Given the description of an element on the screen output the (x, y) to click on. 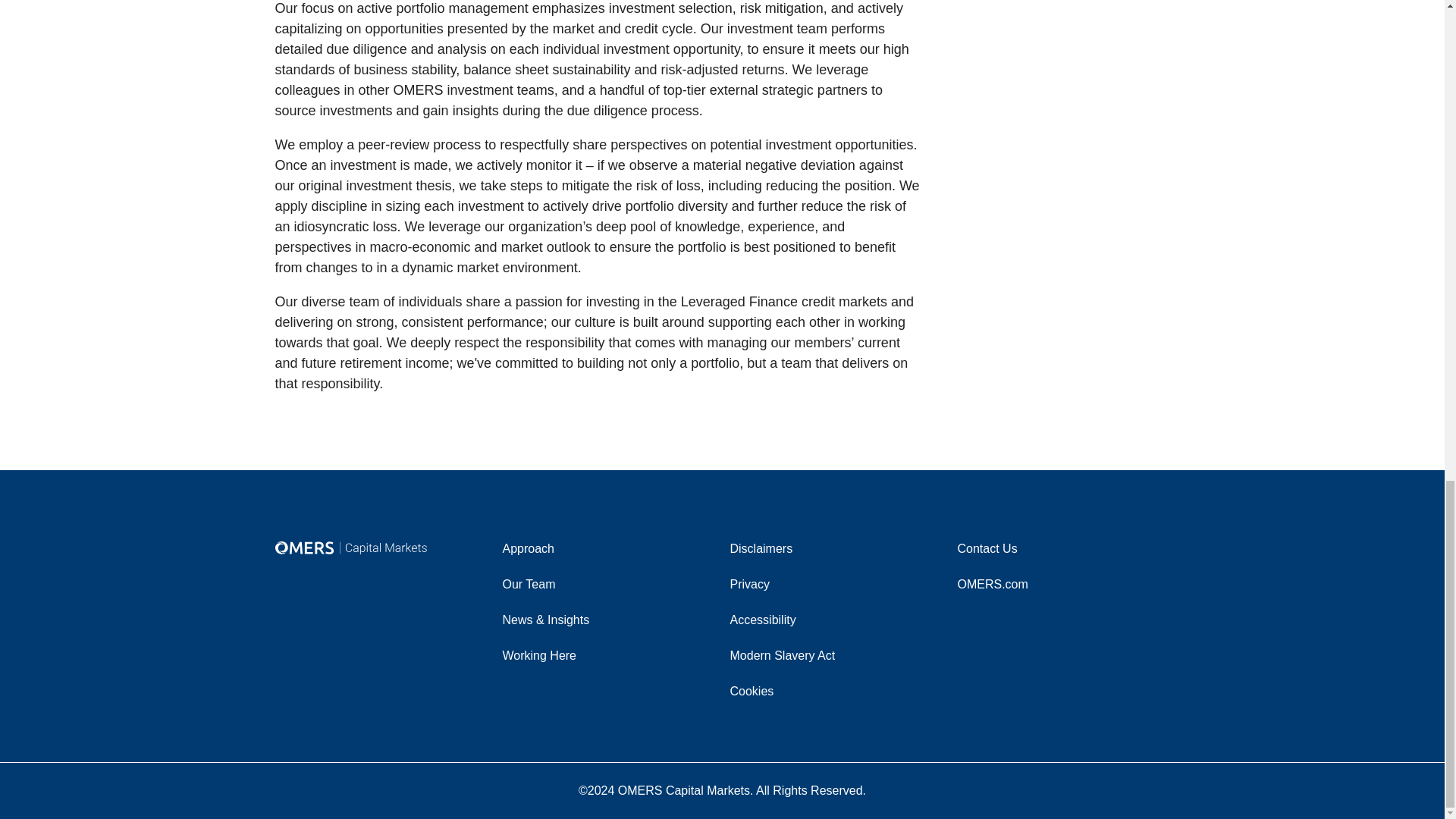
Disclaimers (835, 548)
Accessibility (835, 619)
Privacy (835, 584)
Contact Us (1062, 548)
Approach (608, 548)
Working Here (608, 655)
Our Team (608, 584)
Cookies (835, 690)
Modern Slavery Act (835, 655)
OMERS.com (1062, 584)
